Given the description of an element on the screen output the (x, y) to click on. 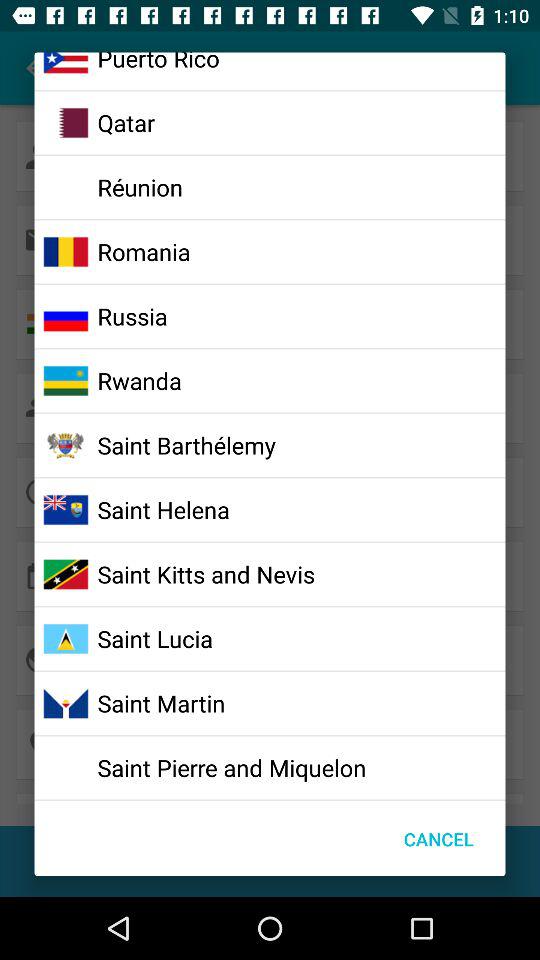
swipe until romania icon (143, 251)
